Given the description of an element on the screen output the (x, y) to click on. 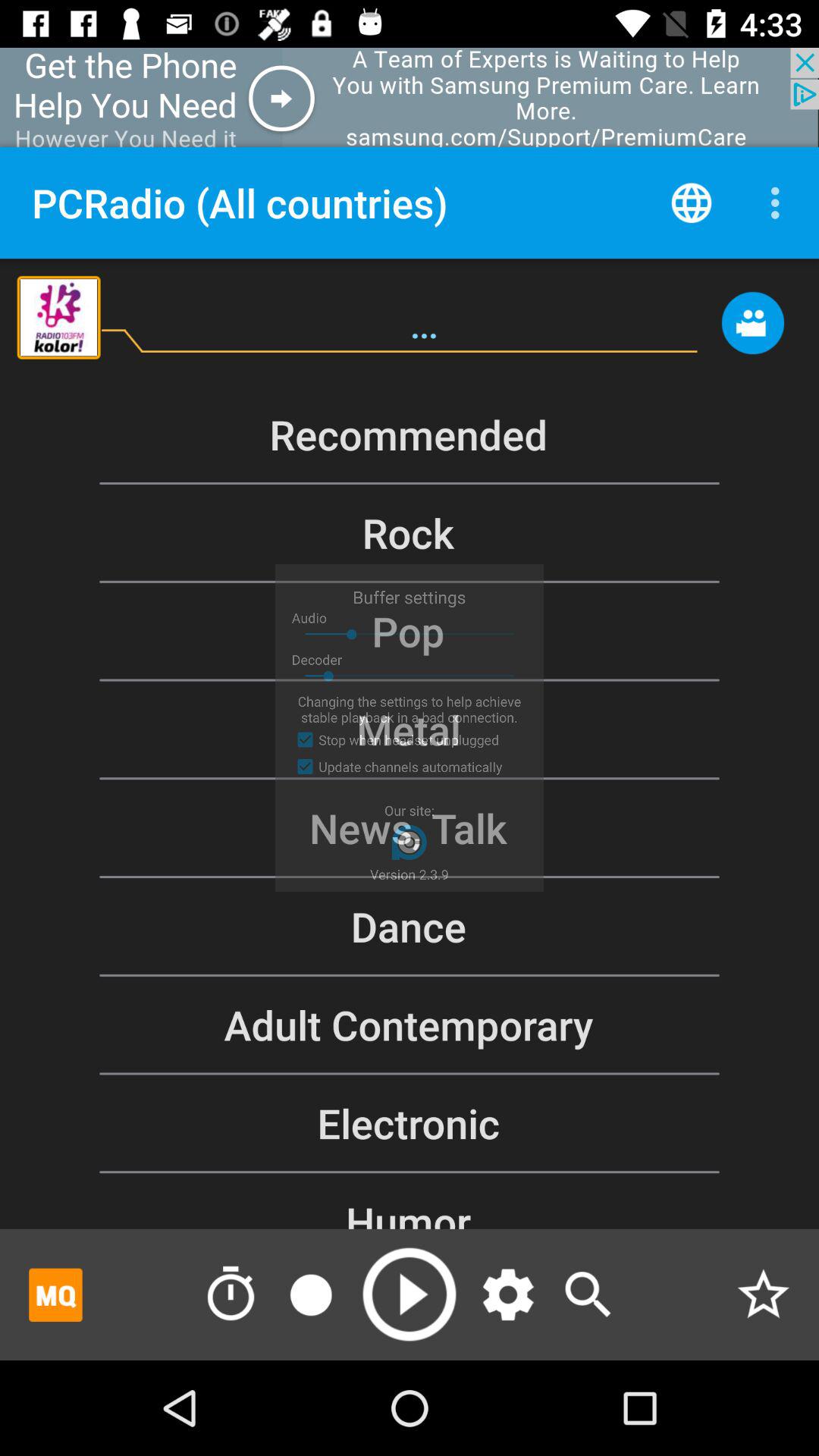
options button (508, 1294)
